Given the description of an element on the screen output the (x, y) to click on. 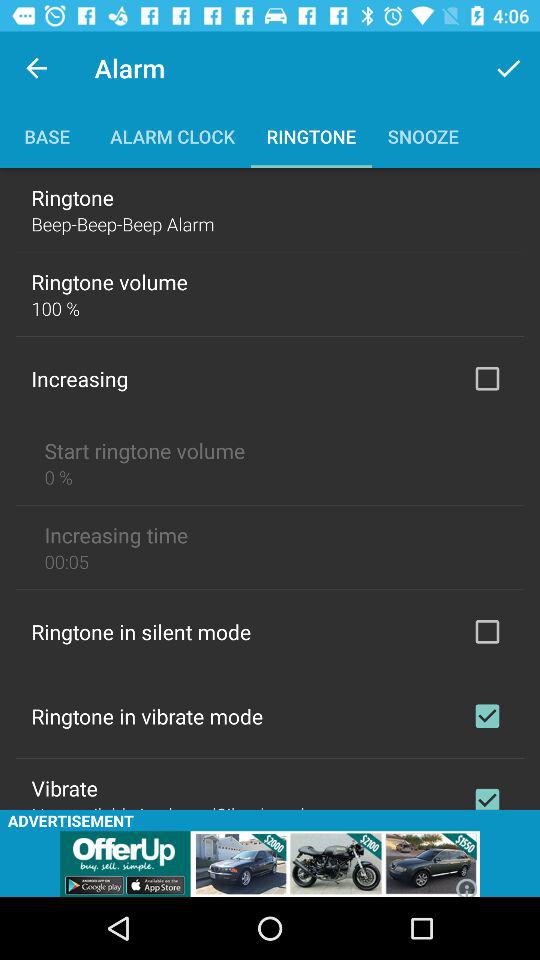
insentify volume (487, 378)
